Given the description of an element on the screen output the (x, y) to click on. 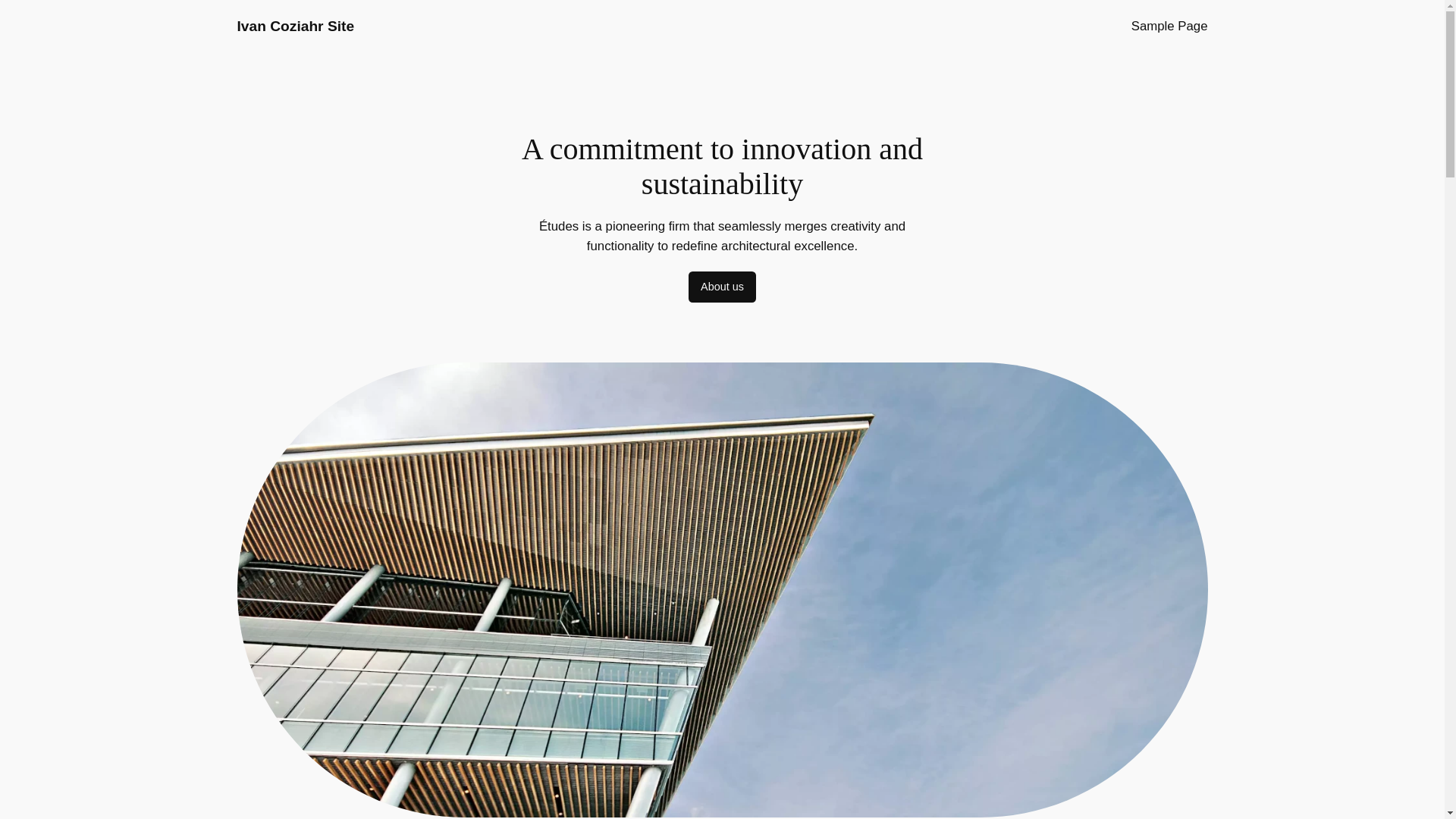
Ivan Coziahr Site (294, 26)
Sample Page (1169, 26)
About us (721, 287)
